Given the description of an element on the screen output the (x, y) to click on. 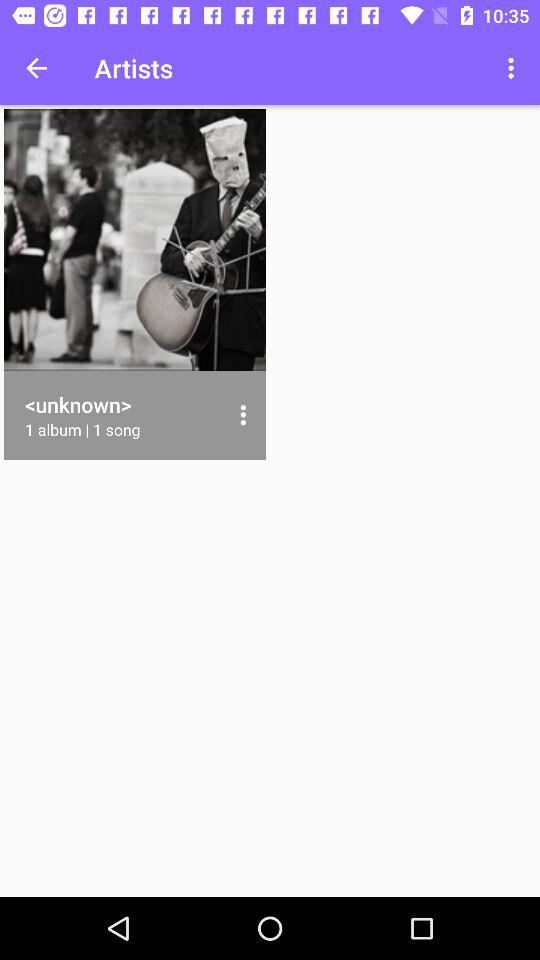
click item next to artists (36, 68)
